Given the description of an element on the screen output the (x, y) to click on. 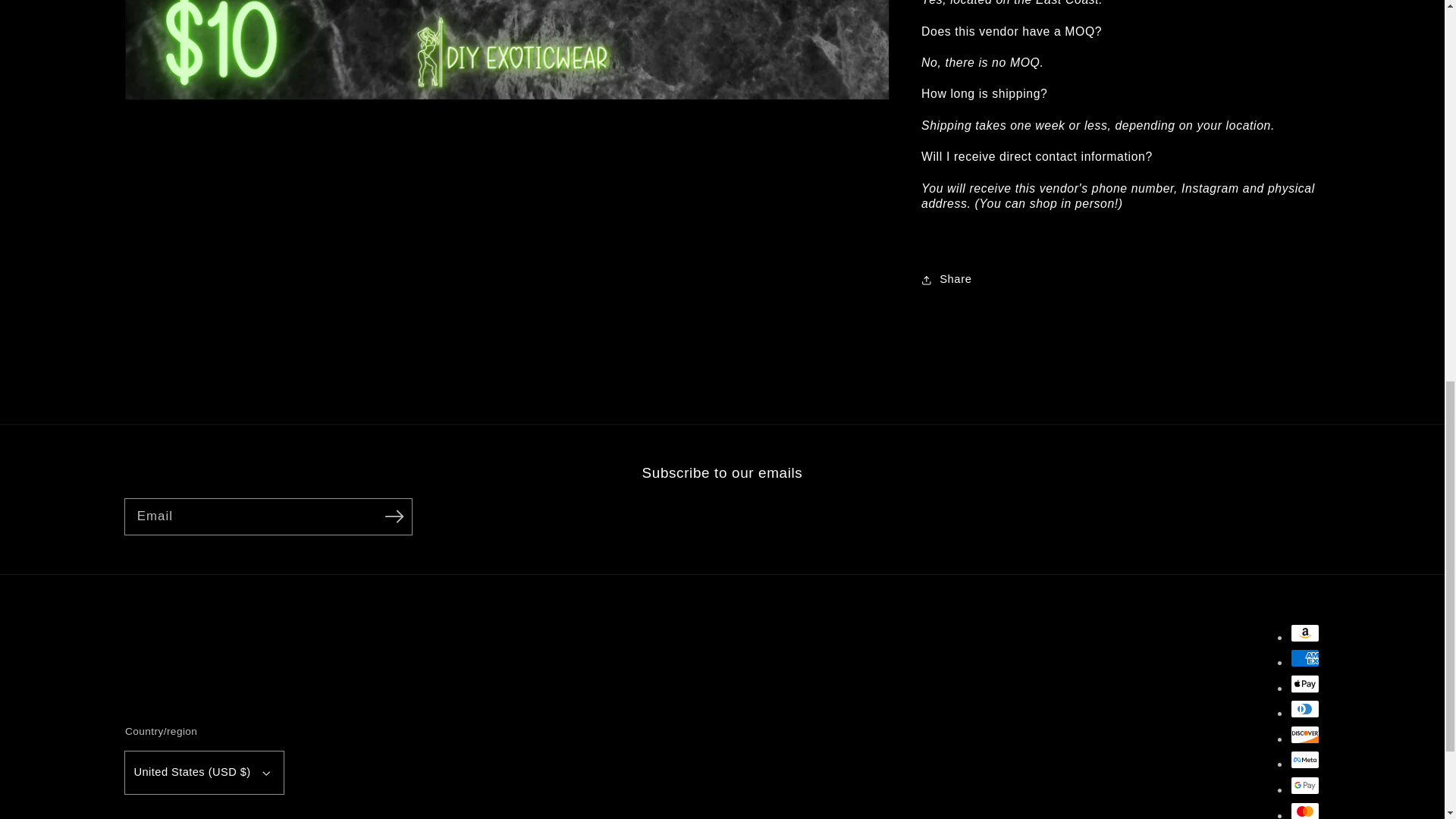
Meta Pay (1304, 760)
Mastercard (1304, 810)
Diners Club (1304, 709)
Amazon (1304, 633)
American Express (1304, 658)
Open media 1 in gallery view (506, 49)
Discover (1304, 734)
Apple Pay (1304, 683)
Google Pay (1304, 785)
